Given the description of an element on the screen output the (x, y) to click on. 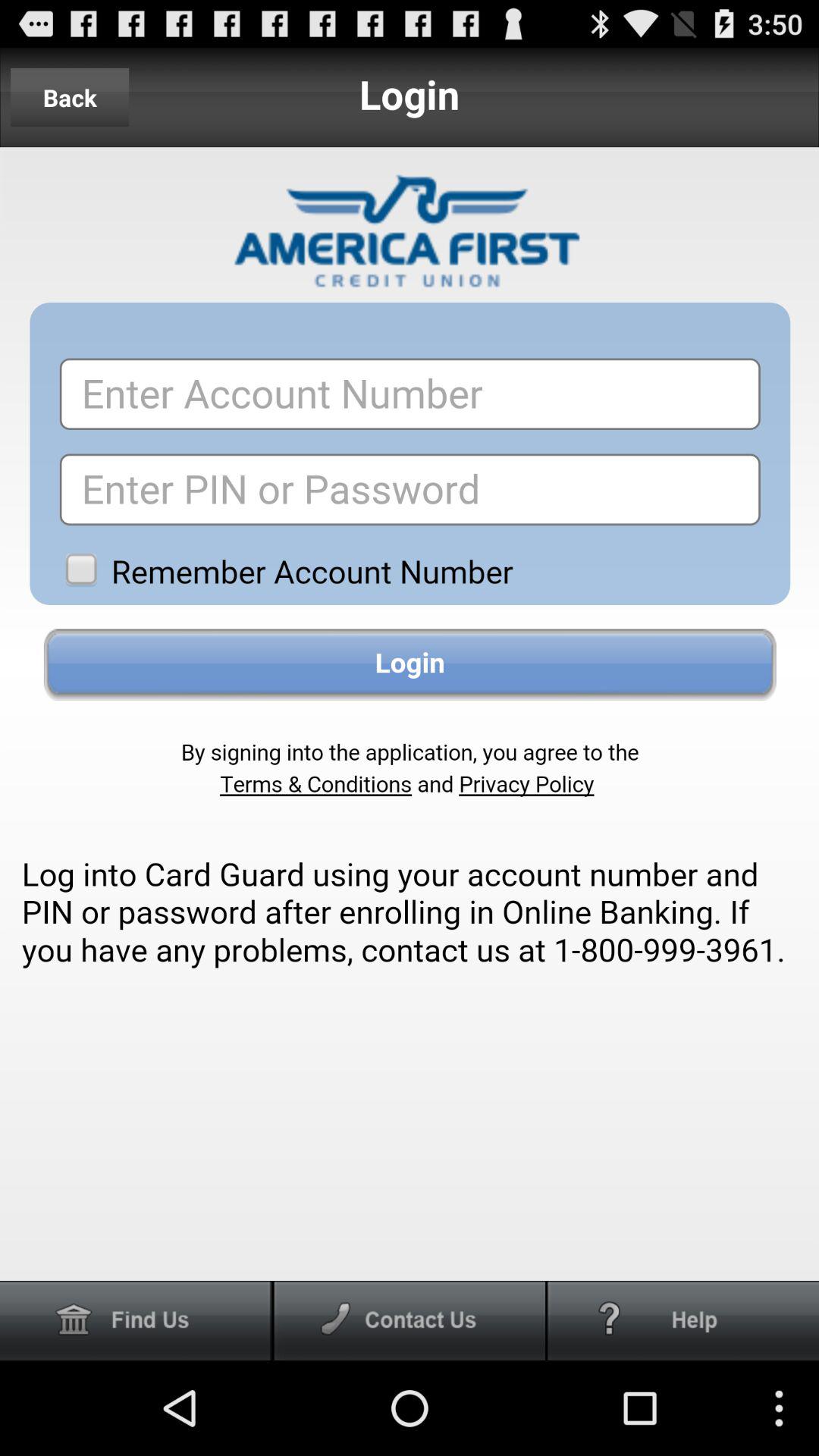
call the option (409, 1320)
